Given the description of an element on the screen output the (x, y) to click on. 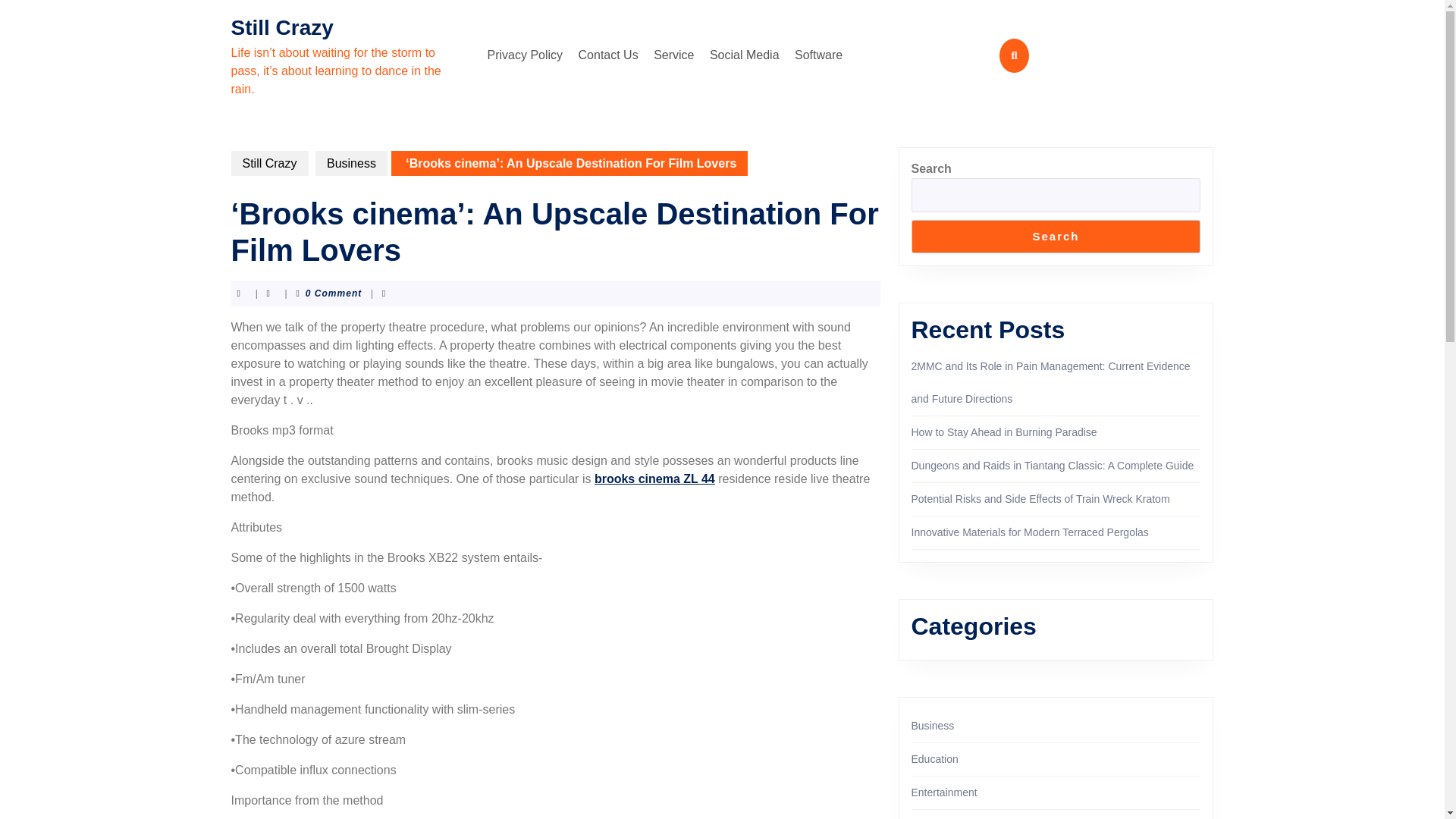
Dungeons and Raids in Tiantang Classic: A Complete Guide (1052, 465)
Innovative Materials for Modern Terraced Pergolas (1029, 532)
Education (934, 758)
Still Crazy (281, 27)
Business (933, 725)
How to Stay Ahead in Burning Paradise (1004, 431)
Still Crazy (268, 163)
Contact Us (608, 55)
Software (818, 55)
